Given the description of an element on the screen output the (x, y) to click on. 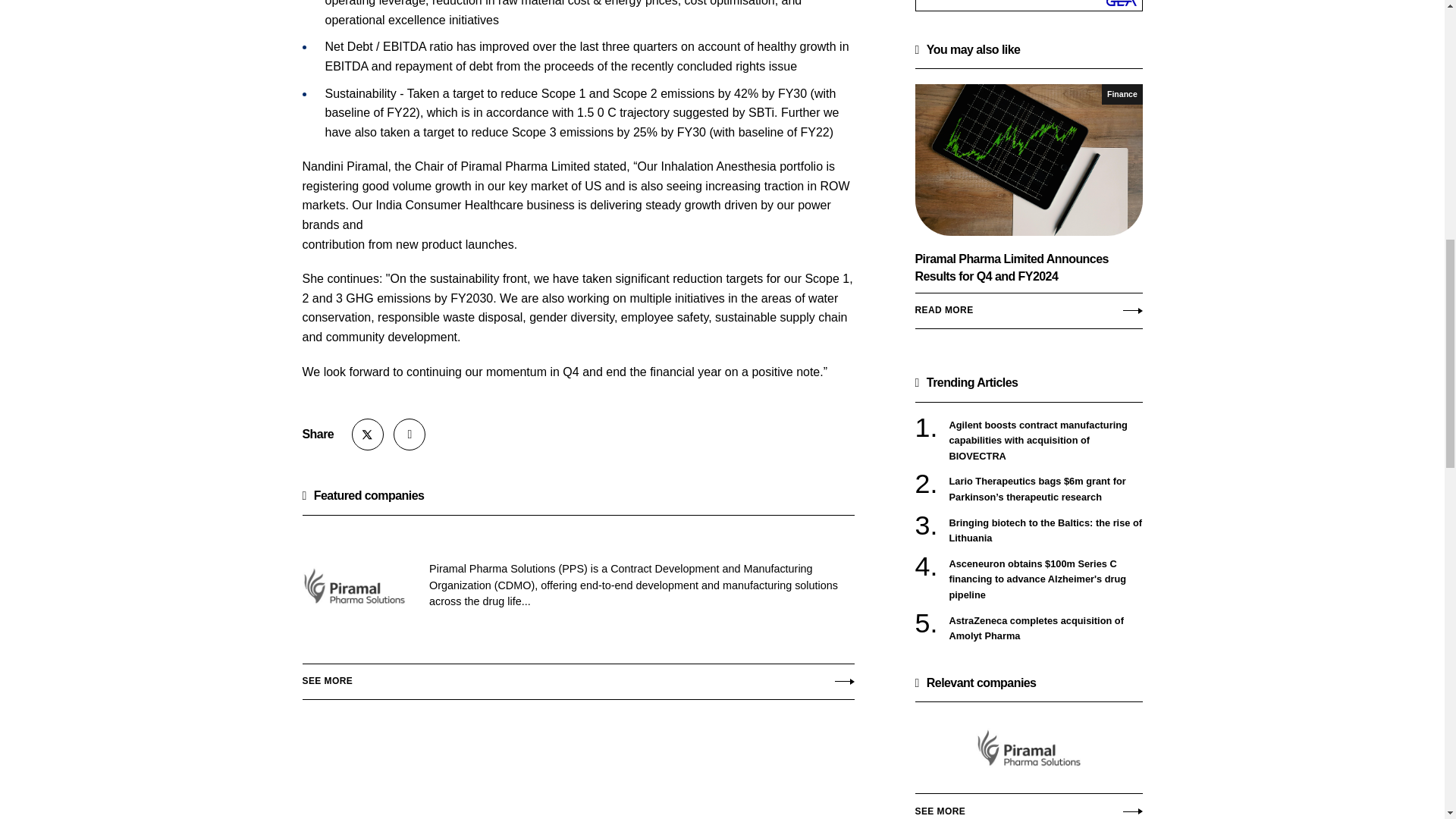
Piramal Pharma Solutions (1028, 747)
LinkedIn (409, 434)
Bringing biotech to the Baltics: the rise of Lithuania (1045, 531)
SEE MORE (1027, 802)
Follow Manufacturing Chemist on X (368, 434)
AstraZeneca completes acquisition of Amolyt Pharma (1045, 628)
SEE MORE (577, 677)
X (368, 434)
Finance (1121, 94)
Follow Manufacturing Chemist on LinkedIn (409, 434)
